Given the description of an element on the screen output the (x, y) to click on. 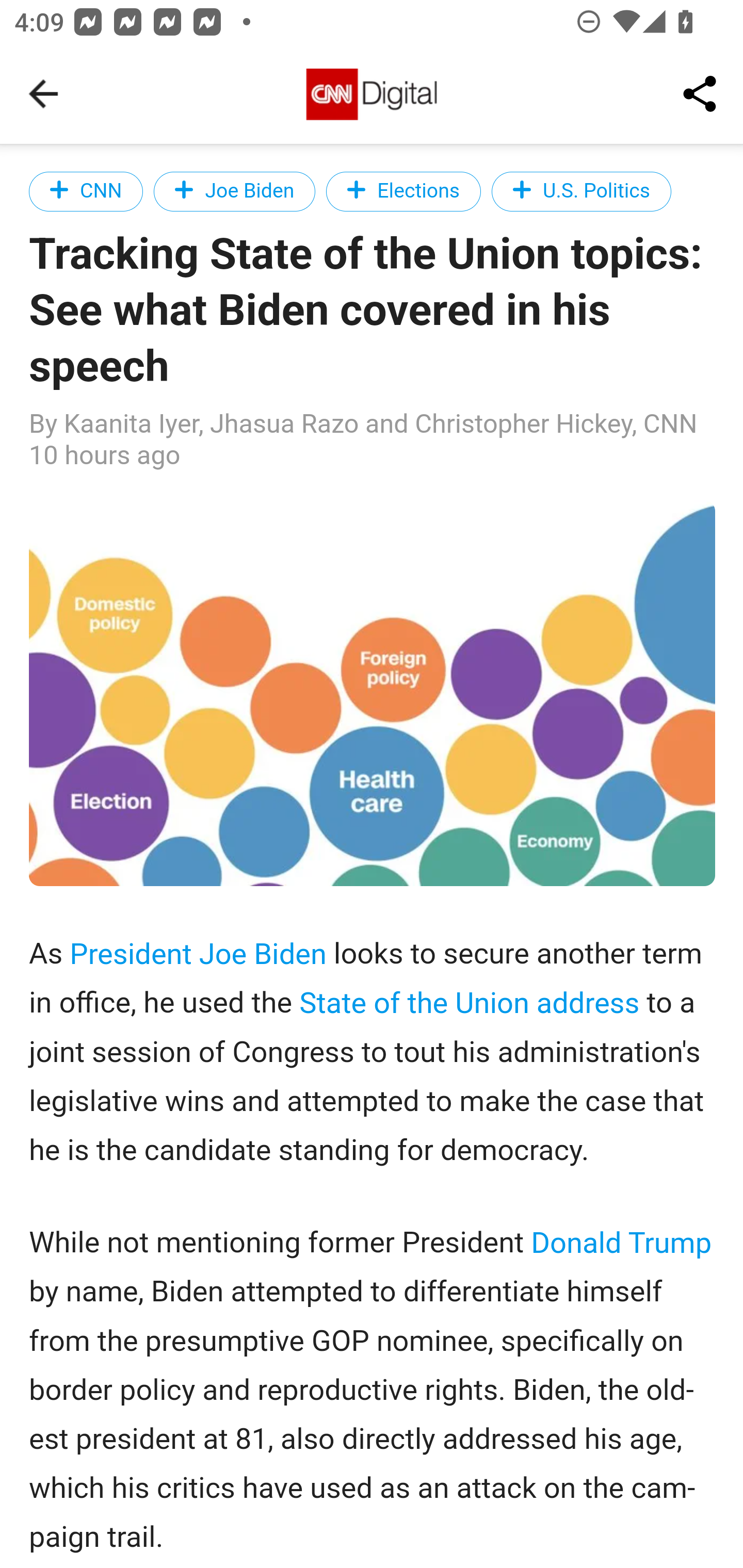
CNN (86, 191)
Joe Biden (234, 191)
Elections (403, 191)
U.S. Politics (581, 191)
President Joe Biden (197, 952)
State of the Union address (468, 1002)
Donald Trump (622, 1241)
